Given the description of an element on the screen output the (x, y) to click on. 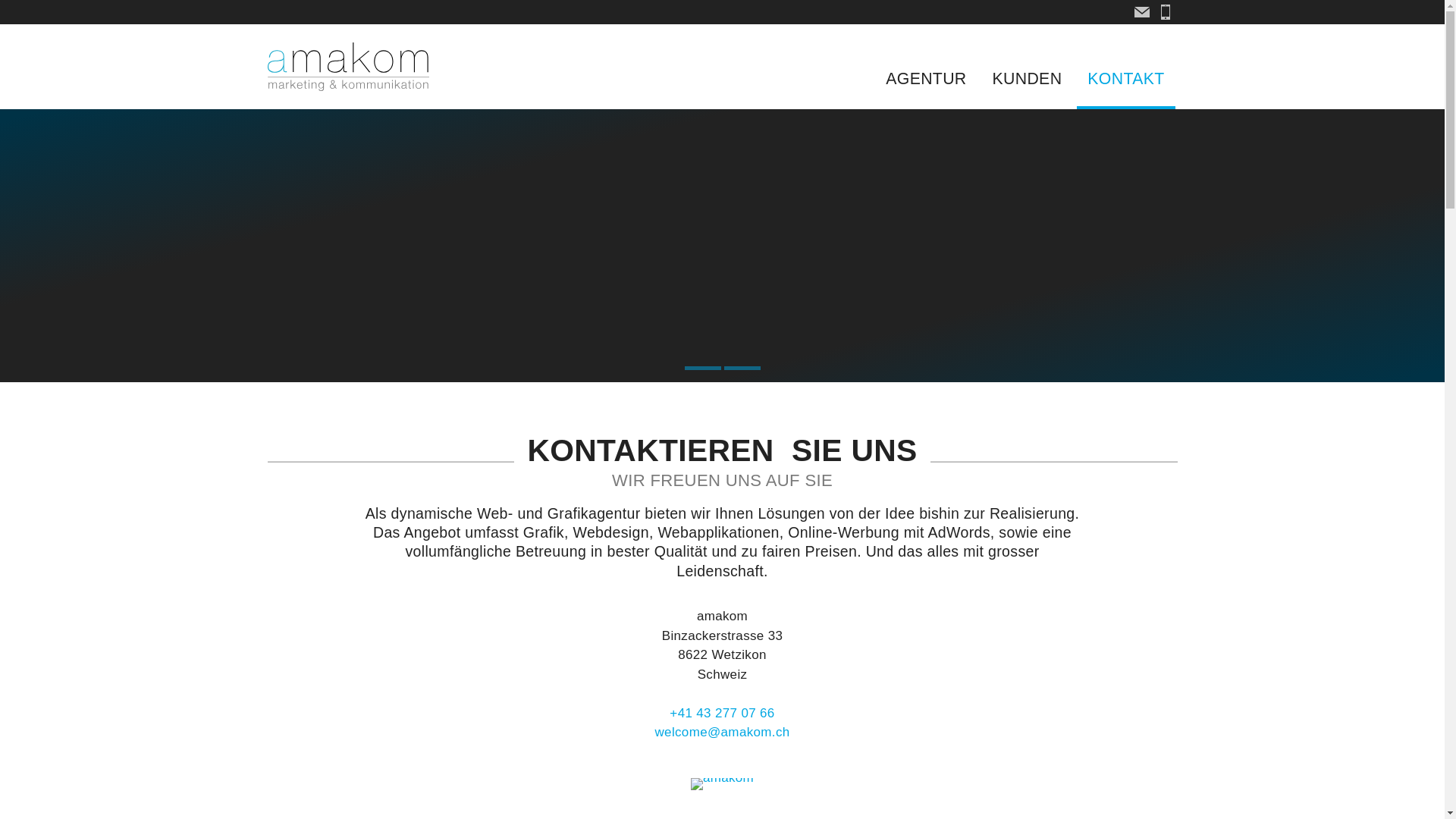
KONTAKT Element type: text (1125, 78)
  Element type: text (1141, 12)
+41 43 277 07 66 Element type: hover (1164, 12)
+41 43 277 07 66 Element type: text (721, 713)
wlcmmkmch Element type: text (721, 731)
  Element type: text (1164, 12)
KUNDEN Element type: text (1027, 78)
AGENTUR Element type: text (925, 78)
Zur Startseite Element type: hover (347, 66)
E-Mail an amakom Element type: hover (1141, 12)
